Given the description of an element on the screen output the (x, y) to click on. 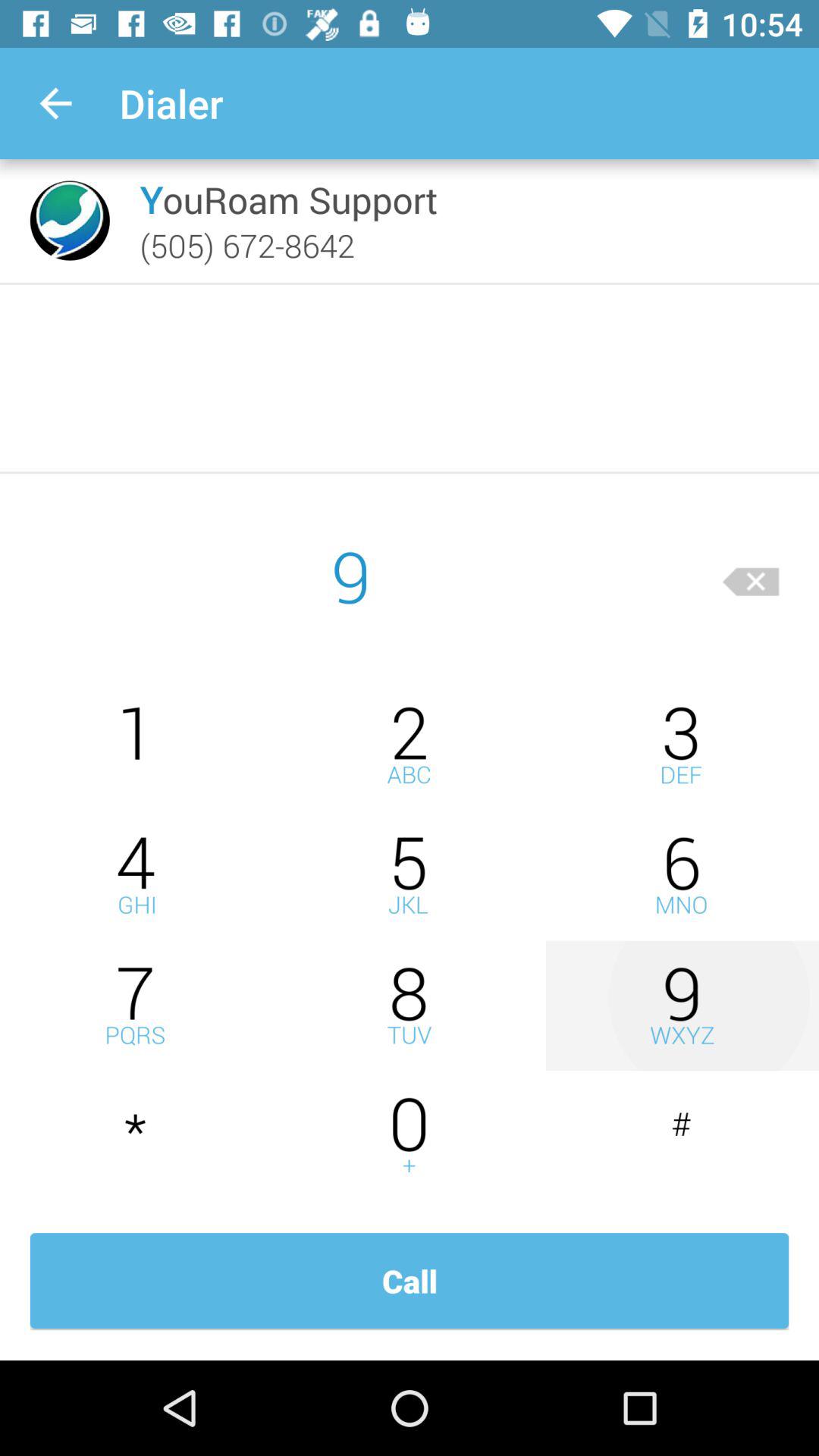
select 4 button (136, 875)
